Given the description of an element on the screen output the (x, y) to click on. 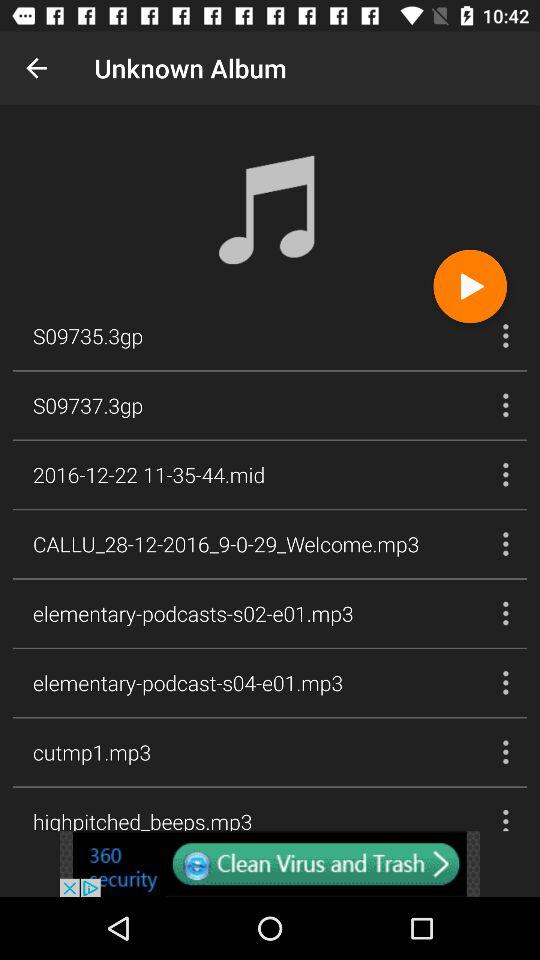
play (470, 286)
